Given the description of an element on the screen output the (x, y) to click on. 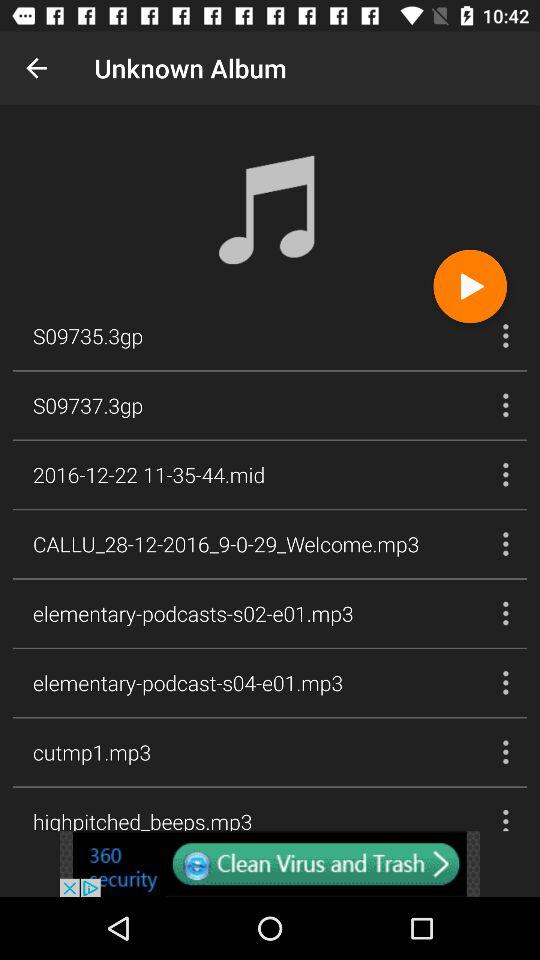
play (470, 286)
